Given the description of an element on the screen output the (x, y) to click on. 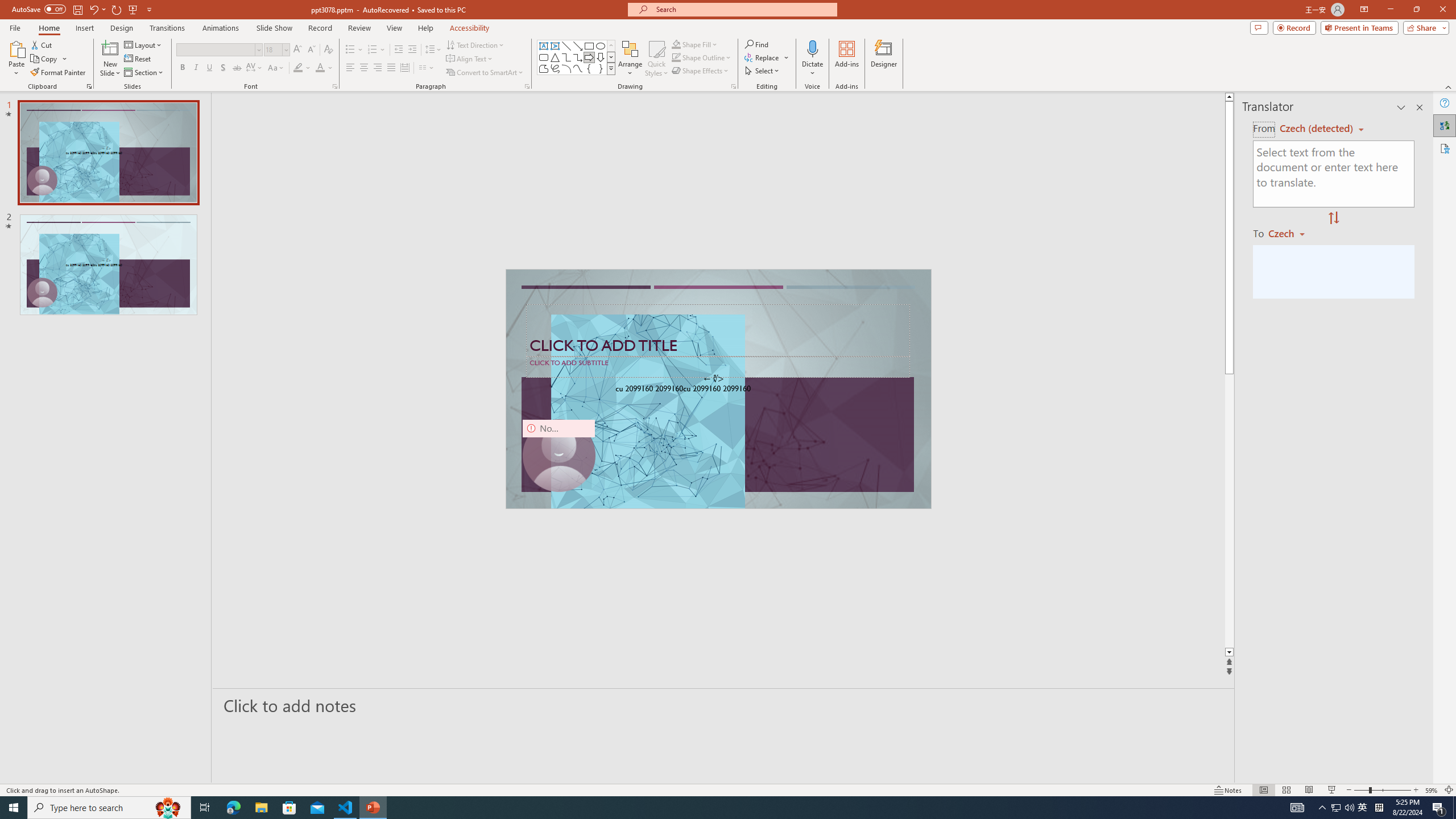
TextBox 7 (713, 378)
